Given the description of an element on the screen output the (x, y) to click on. 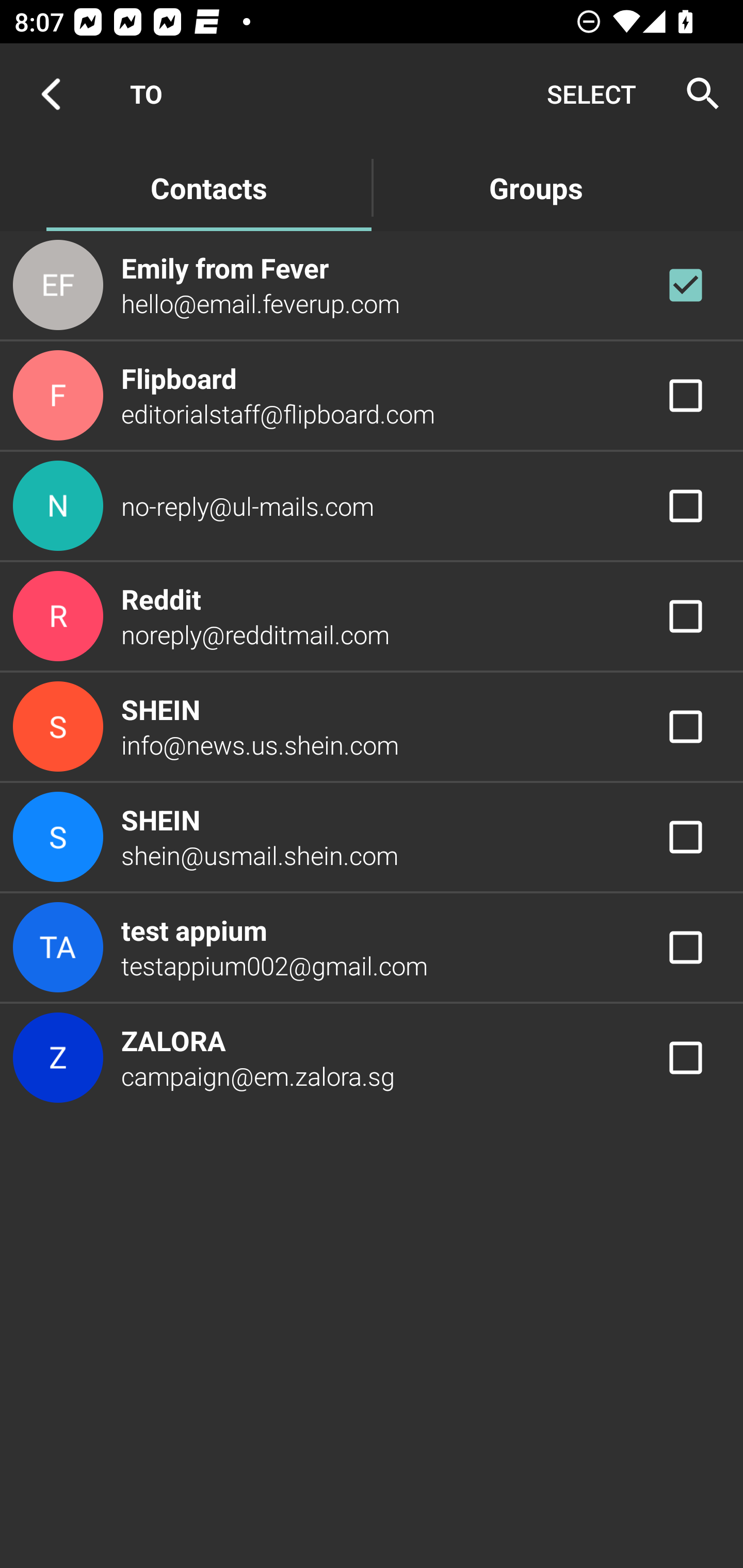
Navigate up (50, 93)
SELECT (590, 93)
Search (696, 93)
Contacts (208, 187)
Groups (535, 187)
Emily from Fever hello@email.feverup.com (371, 284)
Flipboard editorialstaff@flipboard.com (371, 395)
no-reply@ul-mails.com (371, 505)
Reddit noreply@redditmail.com (371, 616)
SHEIN info@news.us.shein.com (371, 726)
SHEIN shein@usmail.shein.com (371, 836)
test appium testappium002@gmail.com (371, 947)
ZALORA campaign@em.zalora.sg (371, 1057)
